Given the description of an element on the screen output the (x, y) to click on. 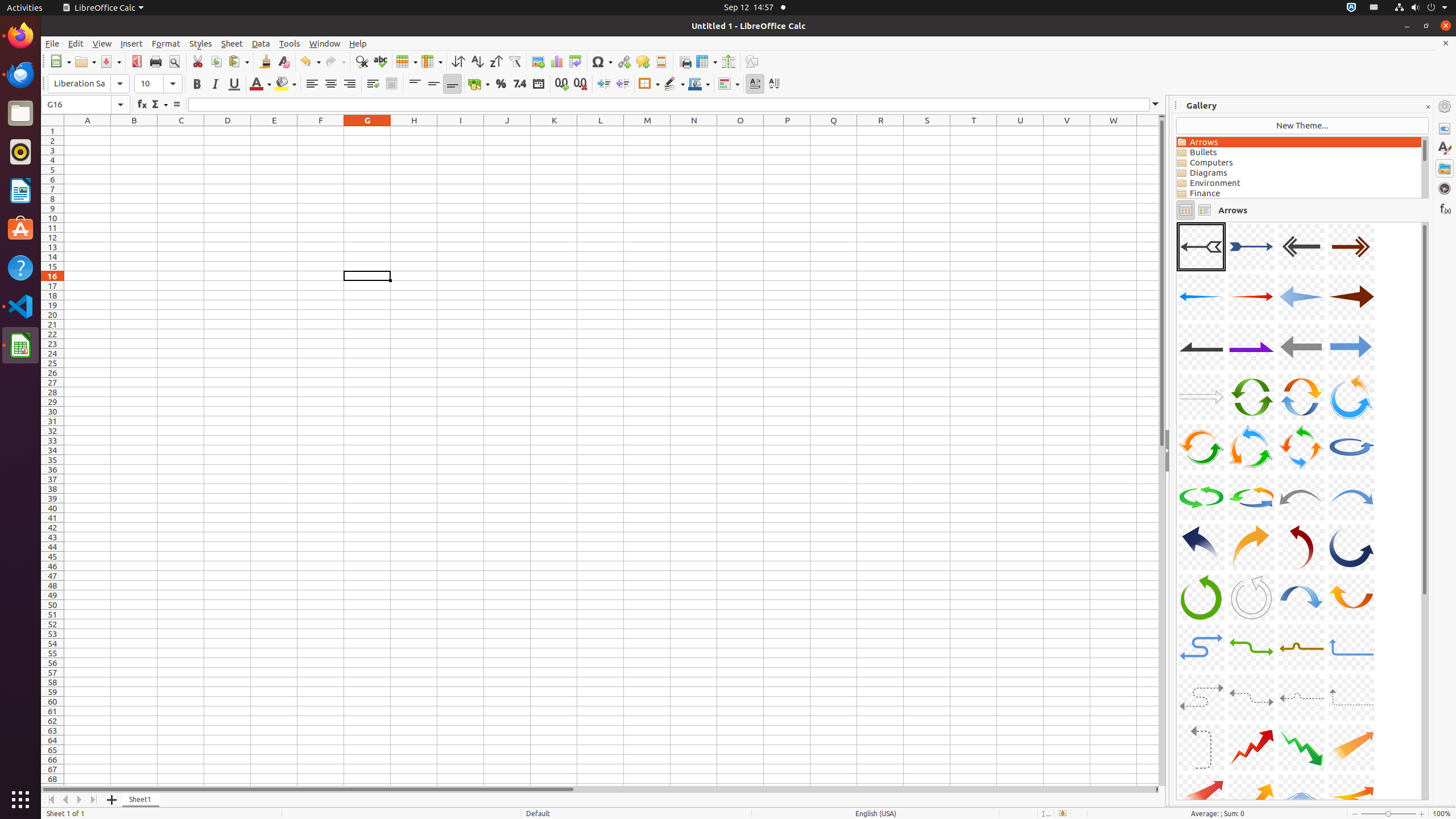
Edit Element type: menu (75, 43)
A10-Arrow-Purple-Right Element type: list-item (1250, 346)
Expand Formula Bar Element type: push-button (1155, 104)
Q1 Element type: table-cell (833, 130)
Merge and Center Cells Element type: push-button (391, 83)
